Given the description of an element on the screen output the (x, y) to click on. 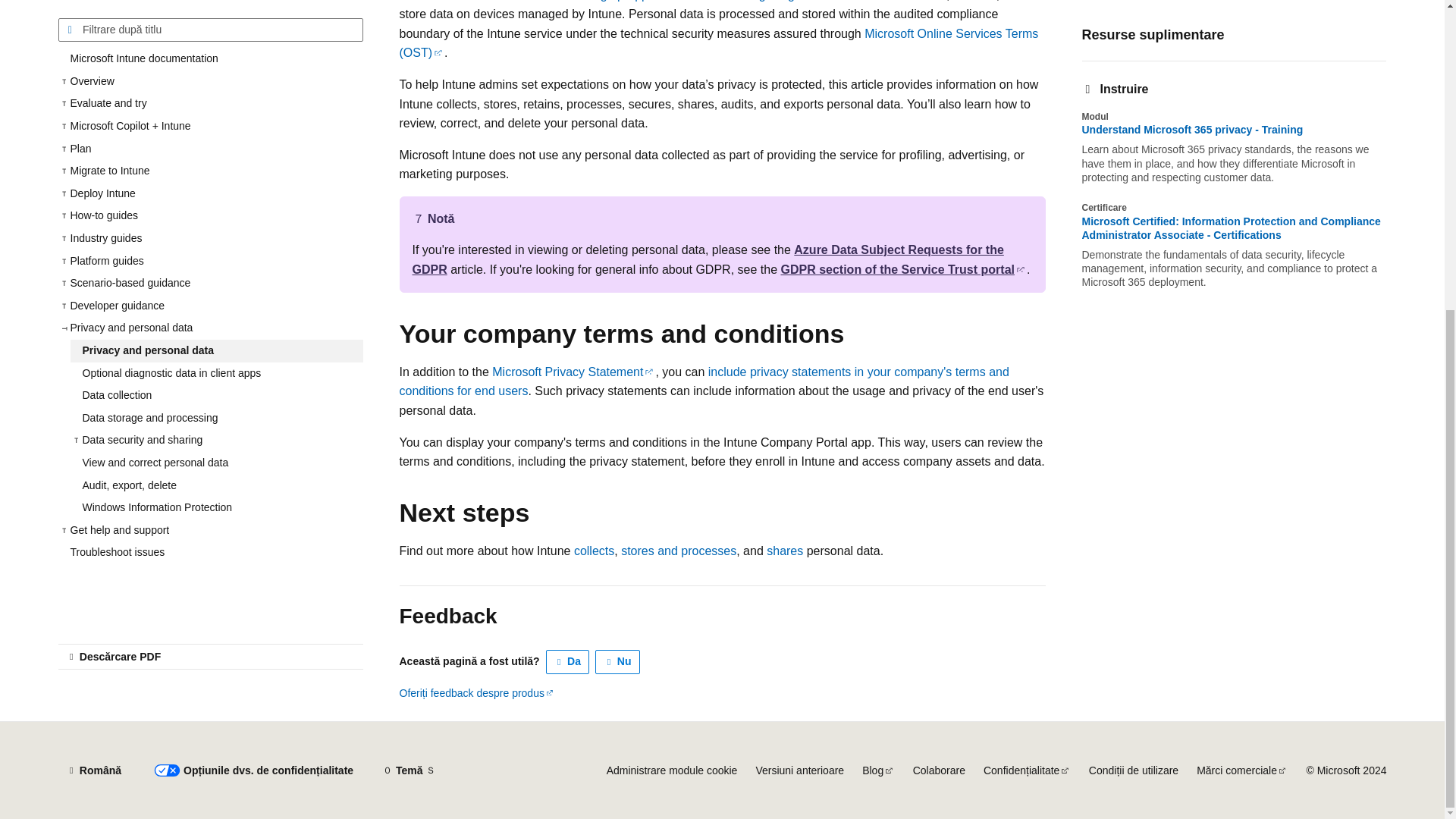
Acest articol este util (567, 662)
Acest articol nu este util (617, 662)
